Given the description of an element on the screen output the (x, y) to click on. 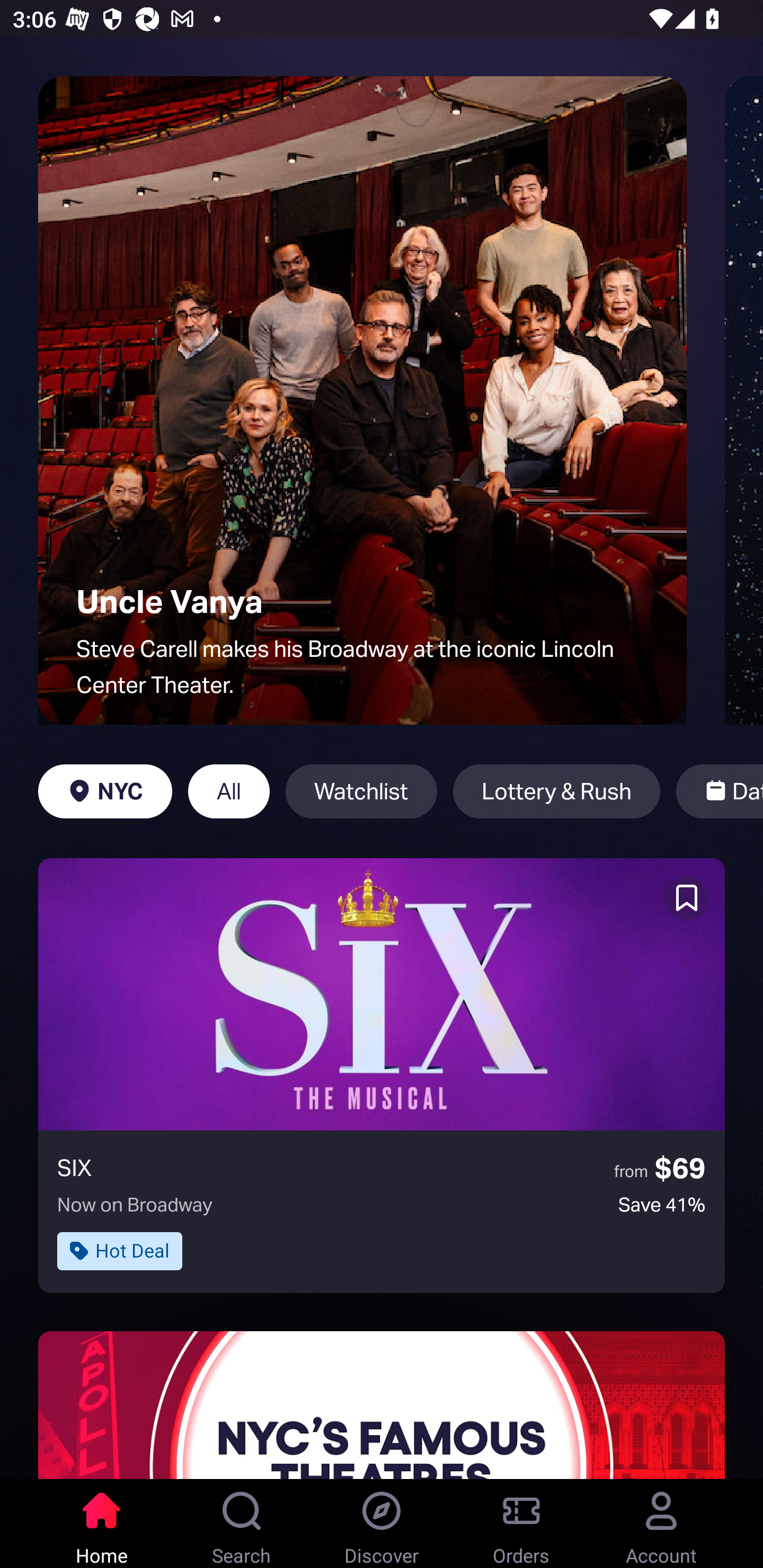
NYC (105, 791)
All (228, 791)
Watchlist (361, 791)
Lottery & Rush (556, 791)
Date (719, 791)
SIX from $69 Now on Broadway Save 41% Hot Deal (381, 1075)
Search (241, 1523)
Discover (381, 1523)
Orders (521, 1523)
Account (660, 1523)
